Given the description of an element on the screen output the (x, y) to click on. 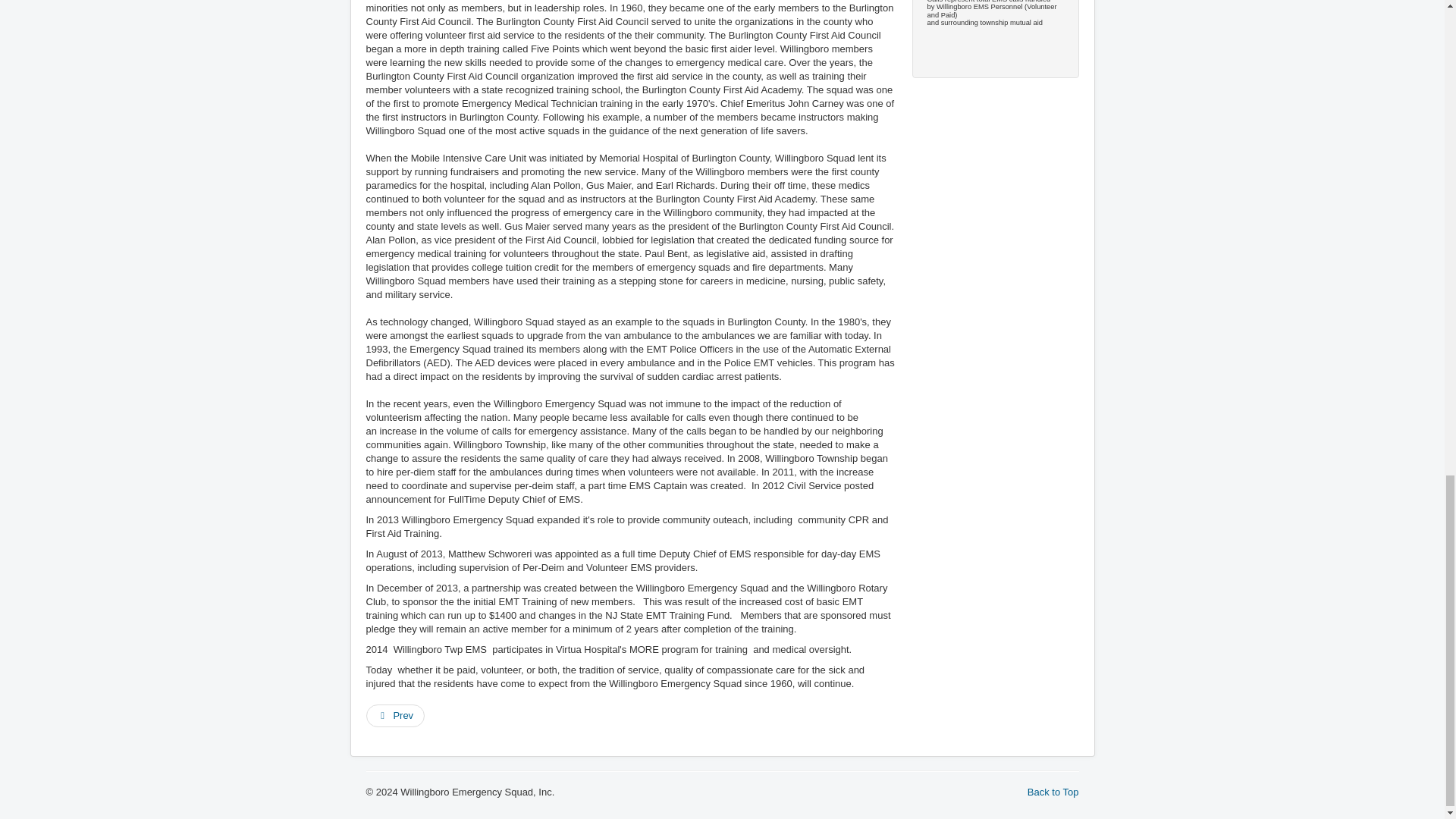
Back to Top (1052, 791)
Prev (395, 715)
